Given the description of an element on the screen output the (x, y) to click on. 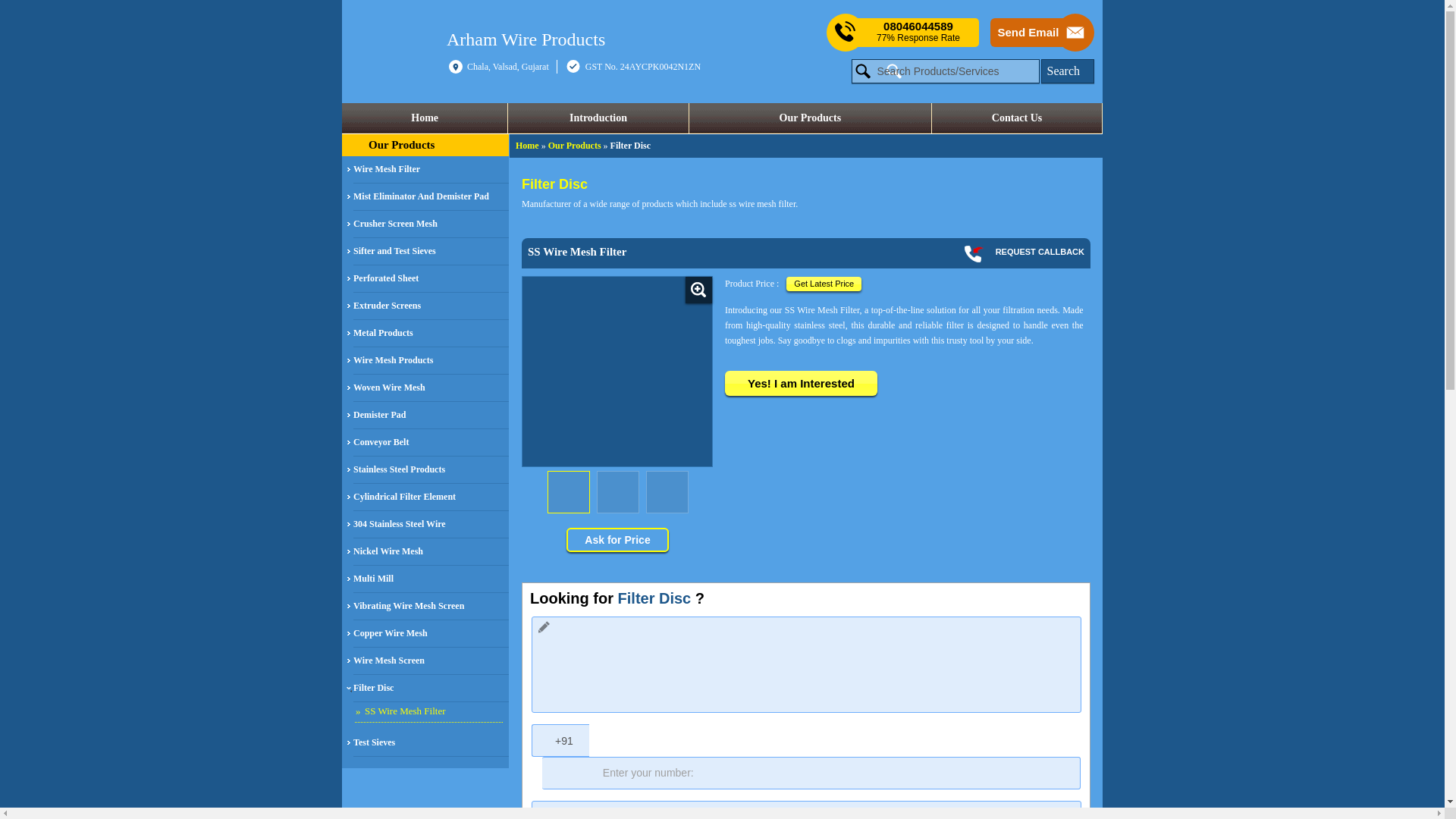
Arham Wire Products (525, 38)
Home (526, 145)
Home (424, 118)
Crusher Screen Mesh (430, 224)
Wire Mesh Filter (430, 169)
Our Products (809, 118)
Send SMS Free (917, 32)
Enter your name: (806, 809)
Contact Us (1016, 118)
Our Products (400, 144)
